Given the description of an element on the screen output the (x, y) to click on. 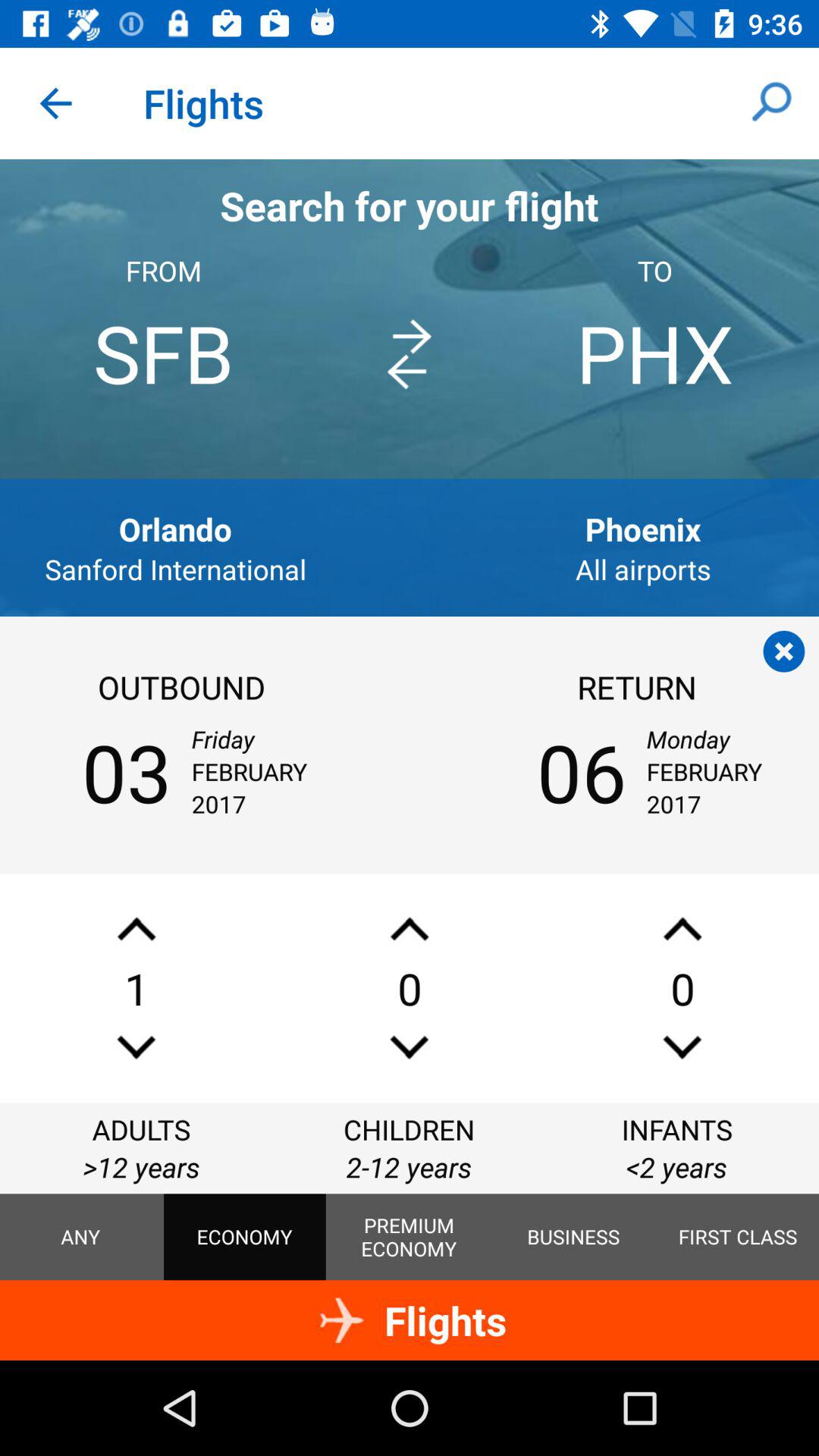
choose the item to the right of the economy item (409, 1236)
